Given the description of an element on the screen output the (x, y) to click on. 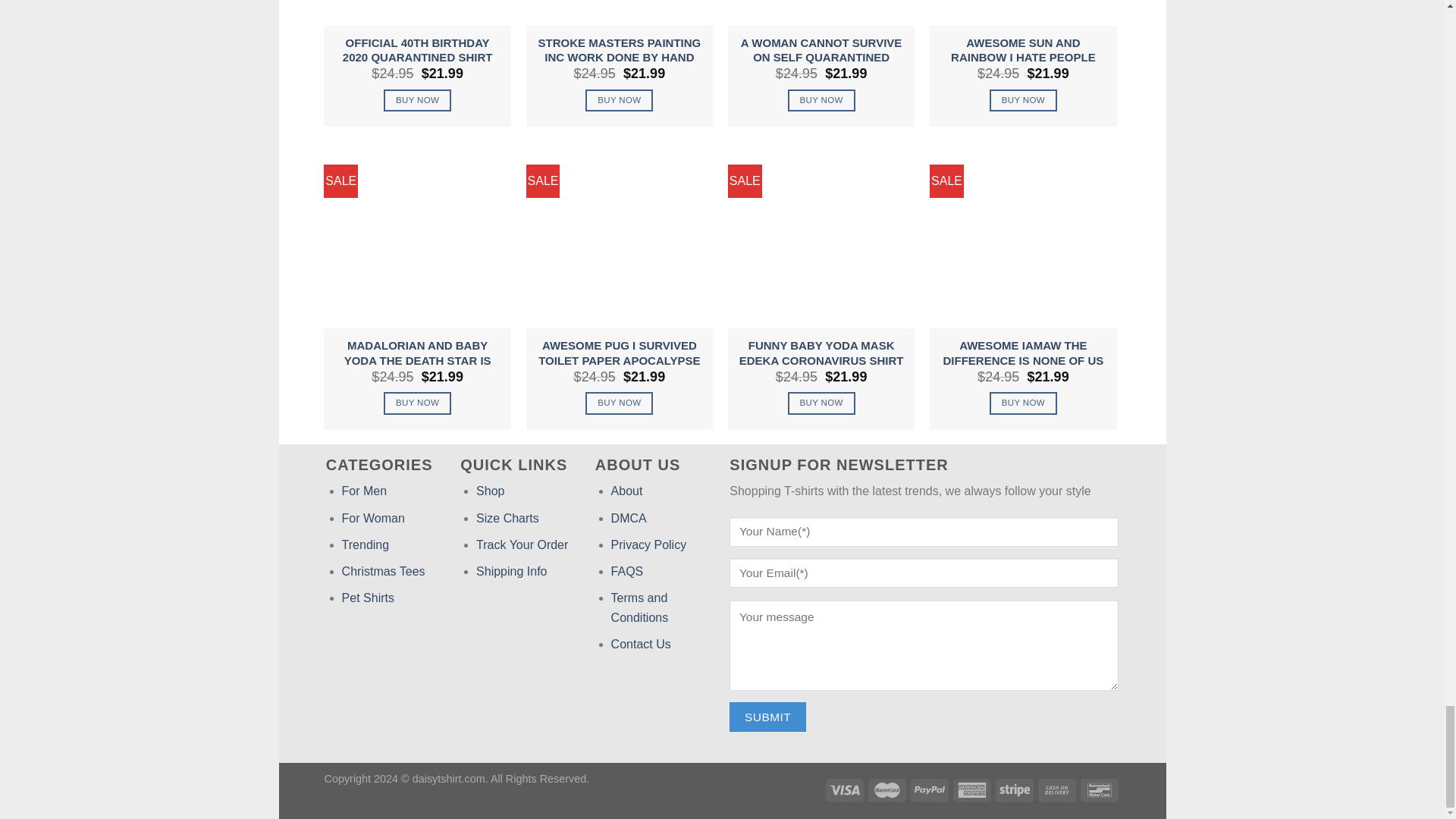
Submit (767, 716)
